Given the description of an element on the screen output the (x, y) to click on. 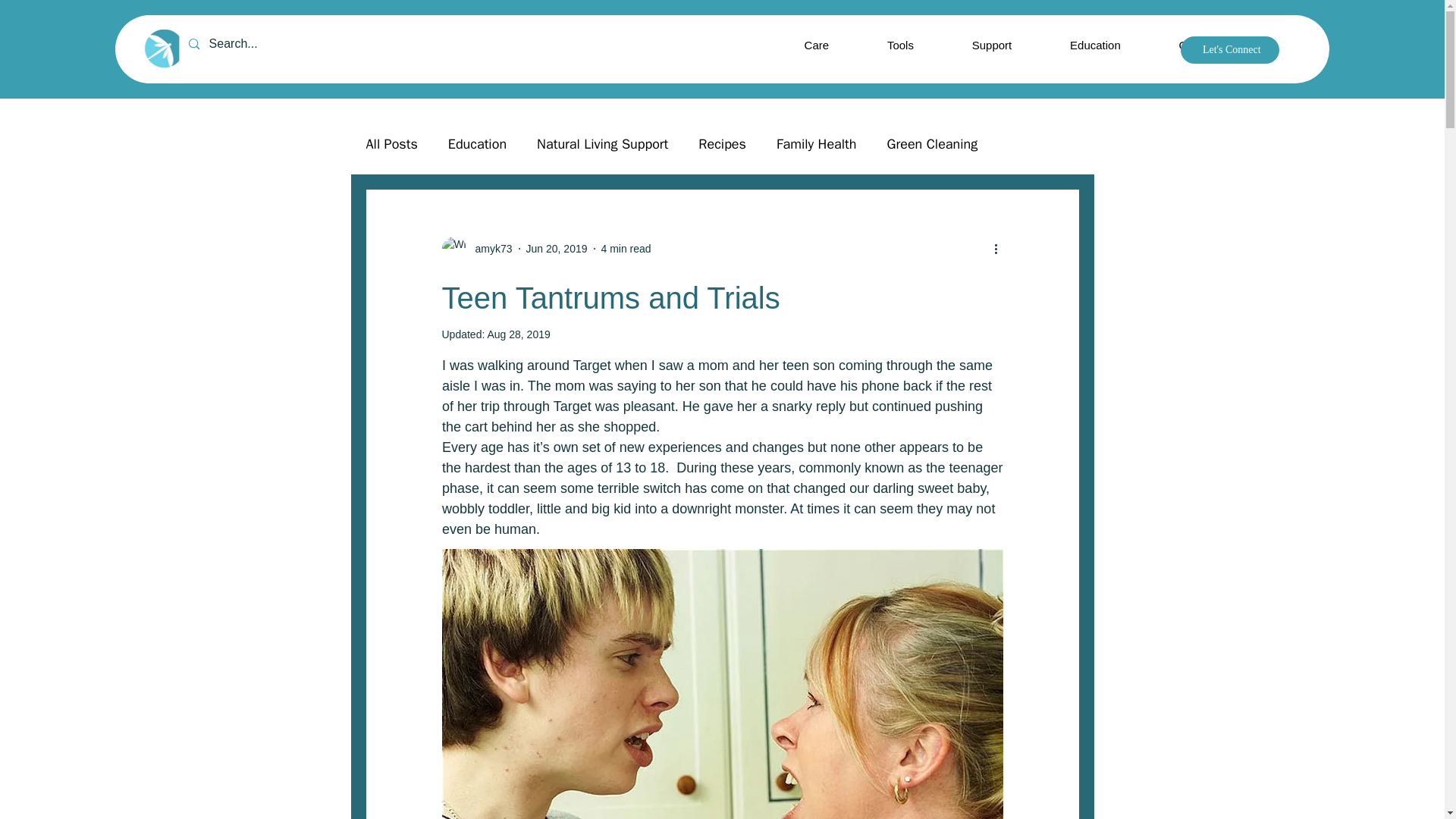
Jun 20, 2019 (556, 248)
Family Health (816, 144)
Support (990, 44)
amyk73 (488, 248)
Recipes (721, 144)
Education (1095, 44)
Let's Connect (1229, 49)
4 min read (624, 248)
Tools (900, 44)
Education (477, 144)
